Given the description of an element on the screen output the (x, y) to click on. 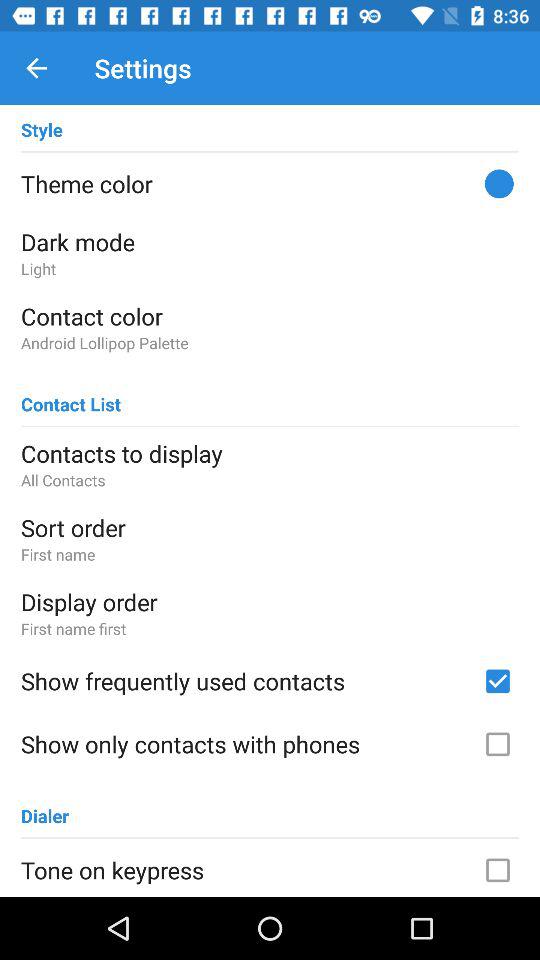
flip until the android lollipop palette item (270, 342)
